Given the description of an element on the screen output the (x, y) to click on. 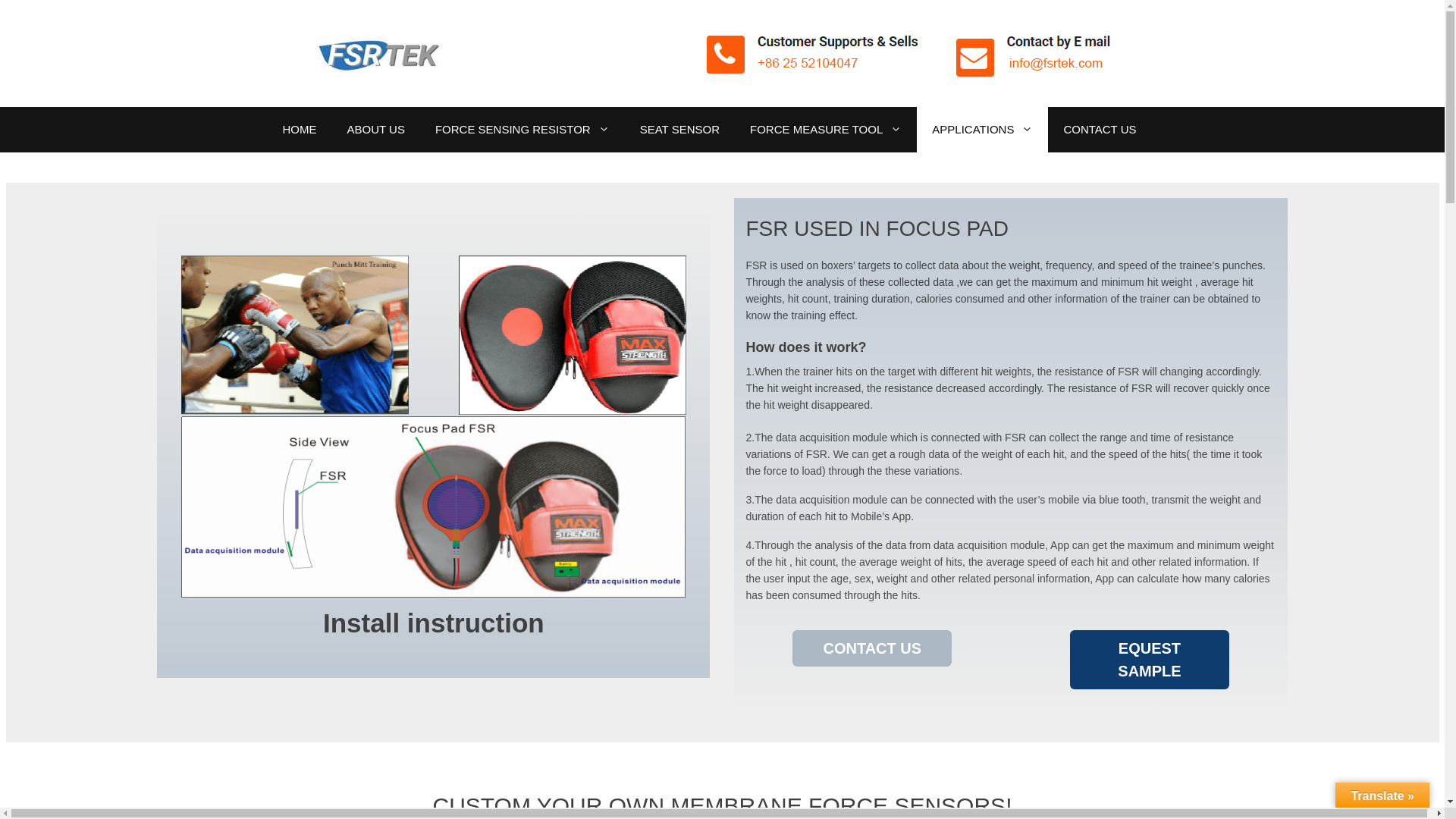
ABOUT US (375, 129)
HOME (298, 129)
FORCE MEASURE TOOL (826, 129)
EQUEST SAMPLE (1149, 659)
FORCE SENSING RESISTOR (522, 129)
CONTACT US (1099, 129)
CONTACT US (872, 647)
SEAT SENSOR (679, 129)
APPLICATIONS (982, 129)
